Given the description of an element on the screen output the (x, y) to click on. 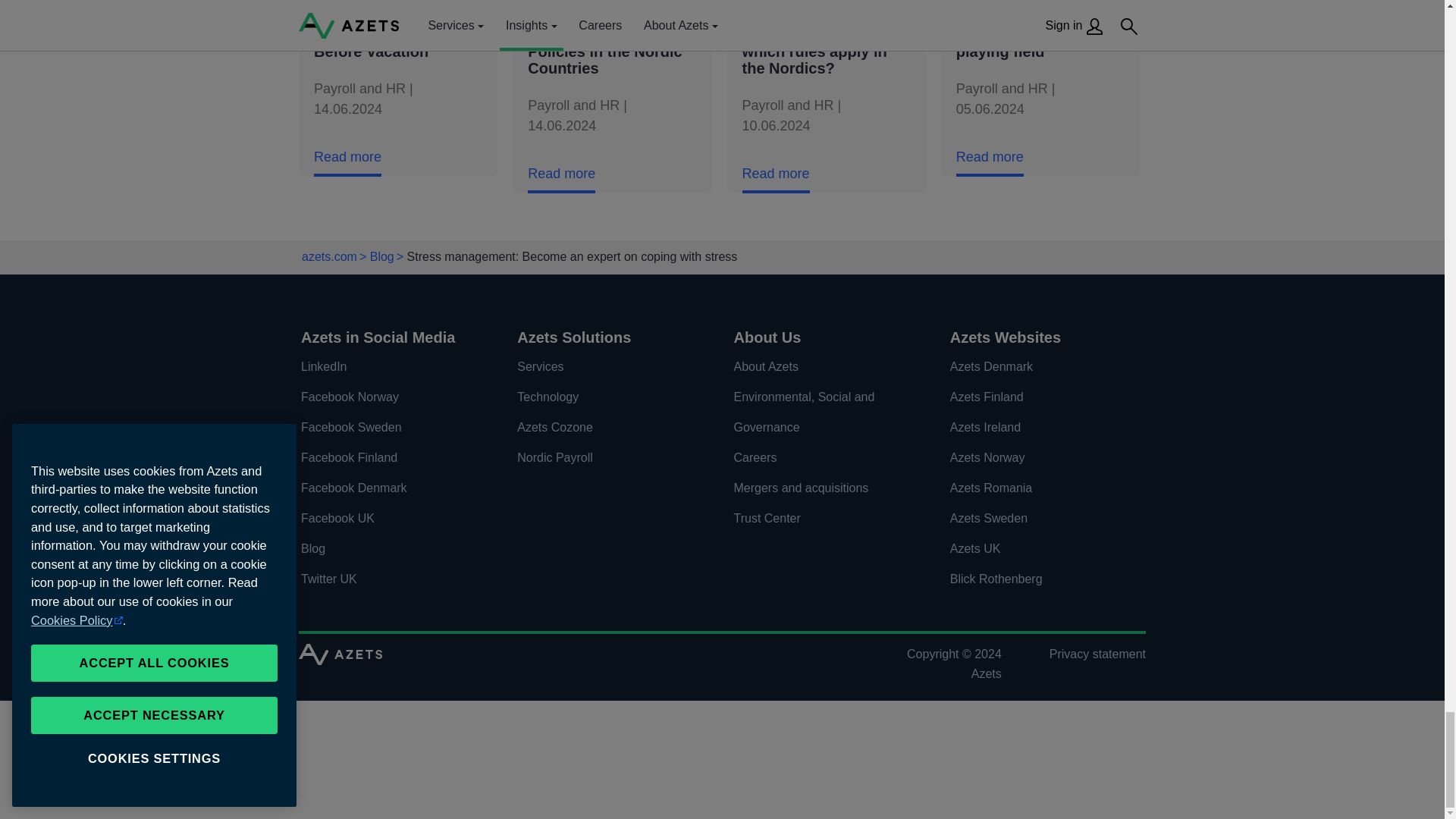
Facebook Finland (392, 458)
Facebook Sweden (392, 427)
Twitter UK (392, 579)
Azets Cozone (609, 427)
Facebook Denmark (392, 488)
Facebook UK (392, 518)
Facebook UK (392, 518)
Technology (609, 397)
Facebook Denmark (392, 488)
Twitter UK (392, 579)
Facebook Sweden (392, 427)
Services (609, 367)
Facebook Norway (392, 397)
Services (609, 367)
LinkedIn (392, 367)
